Given the description of an element on the screen output the (x, y) to click on. 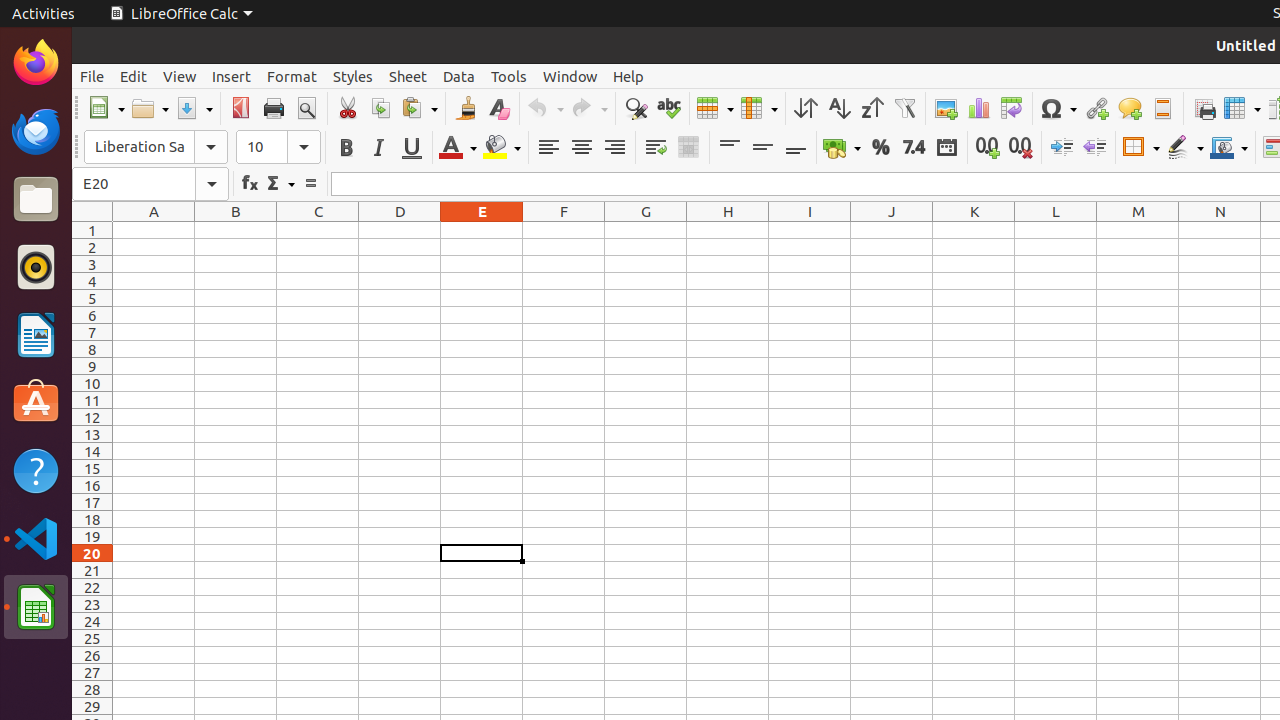
Font Size Element type: combo-box (278, 147)
Add Decimal Place Element type: push-button (987, 147)
A1 Element type: table-cell (154, 230)
Pivot Table Element type: push-button (1011, 108)
Print Preview Element type: toggle-button (306, 108)
